Given the description of an element on the screen output the (x, y) to click on. 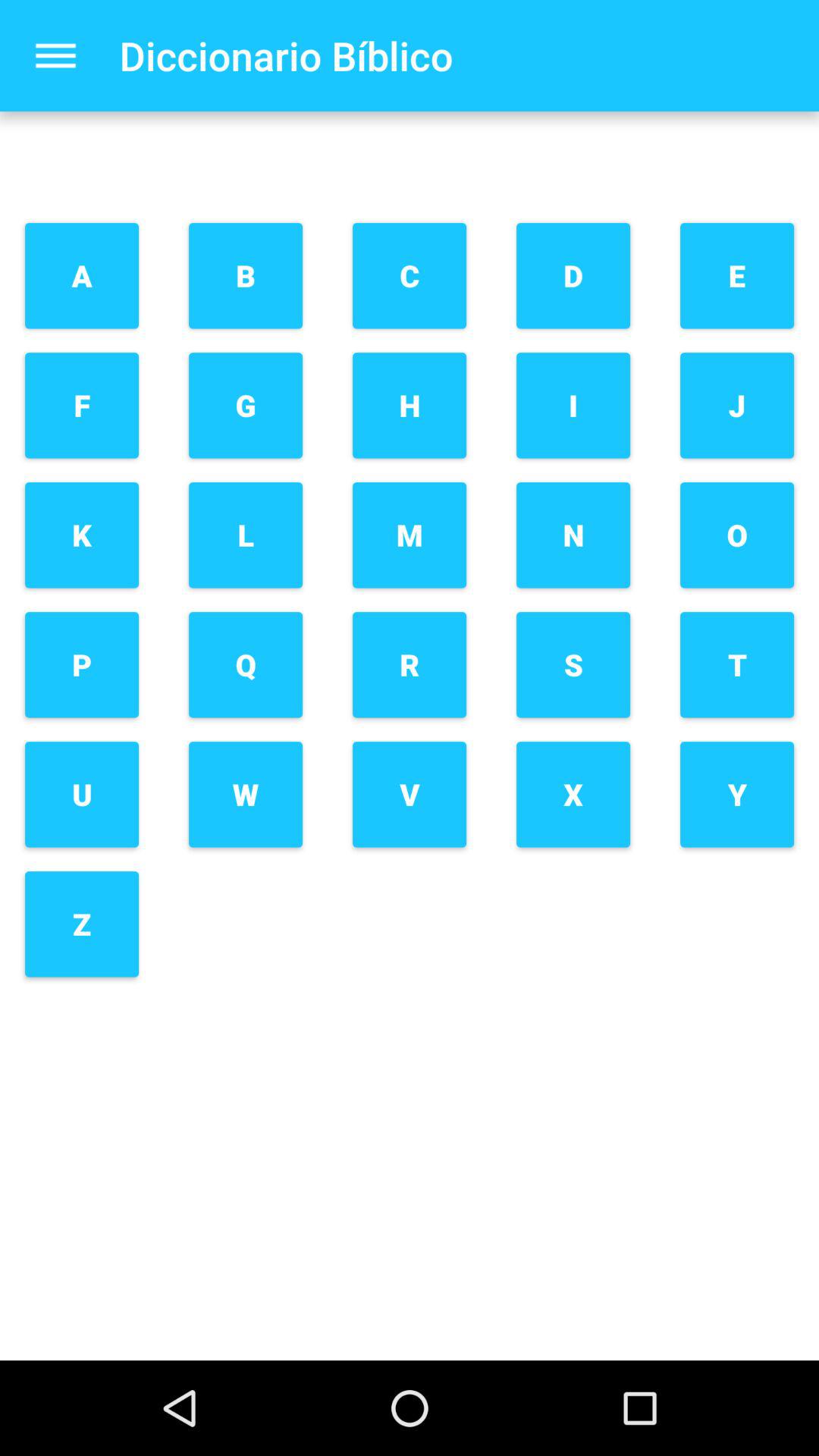
launch the icon above f item (81, 275)
